Given the description of an element on the screen output the (x, y) to click on. 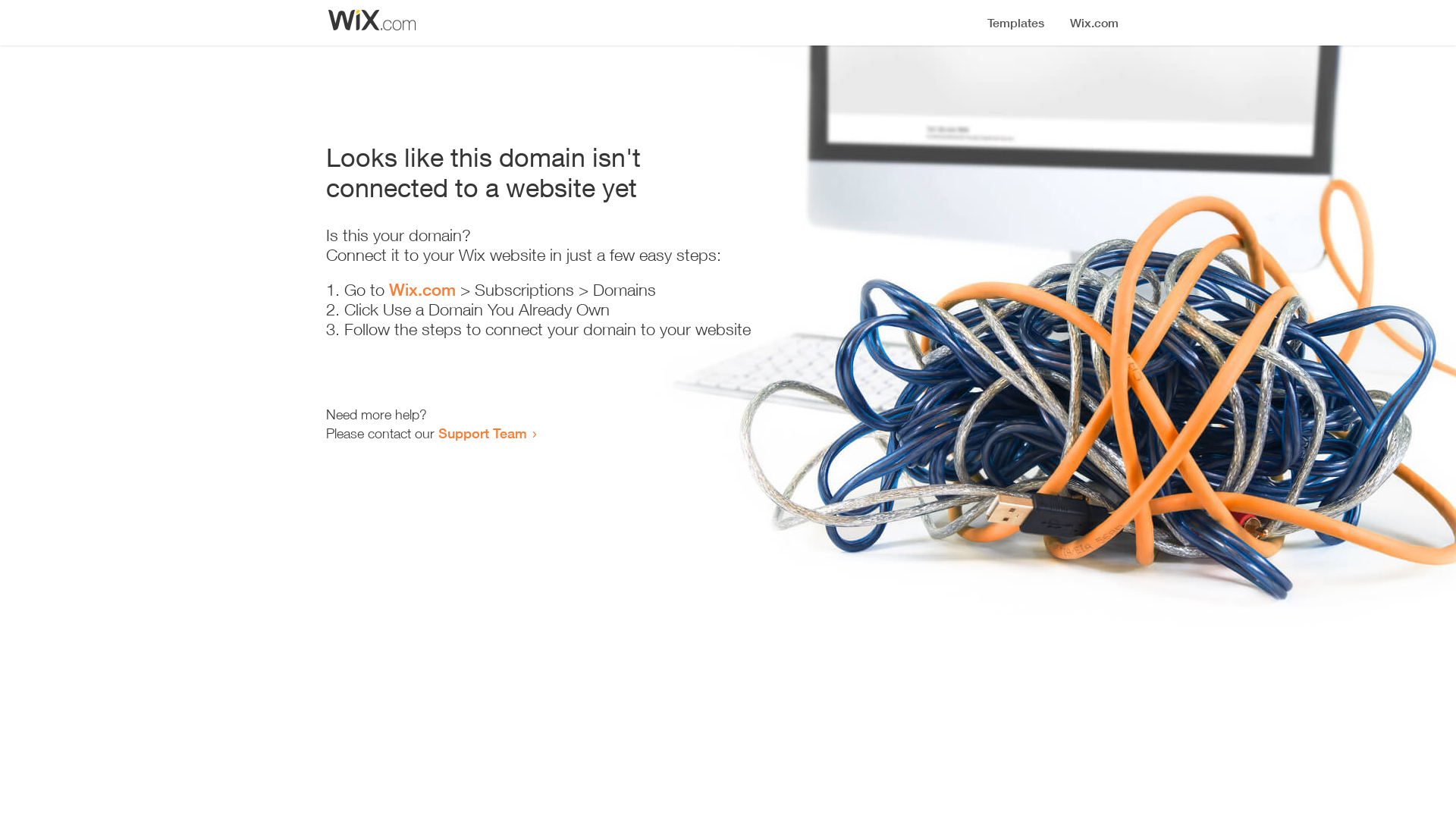
Wix.com Element type: text (422, 289)
Support Team Element type: text (482, 432)
